Given the description of an element on the screen output the (x, y) to click on. 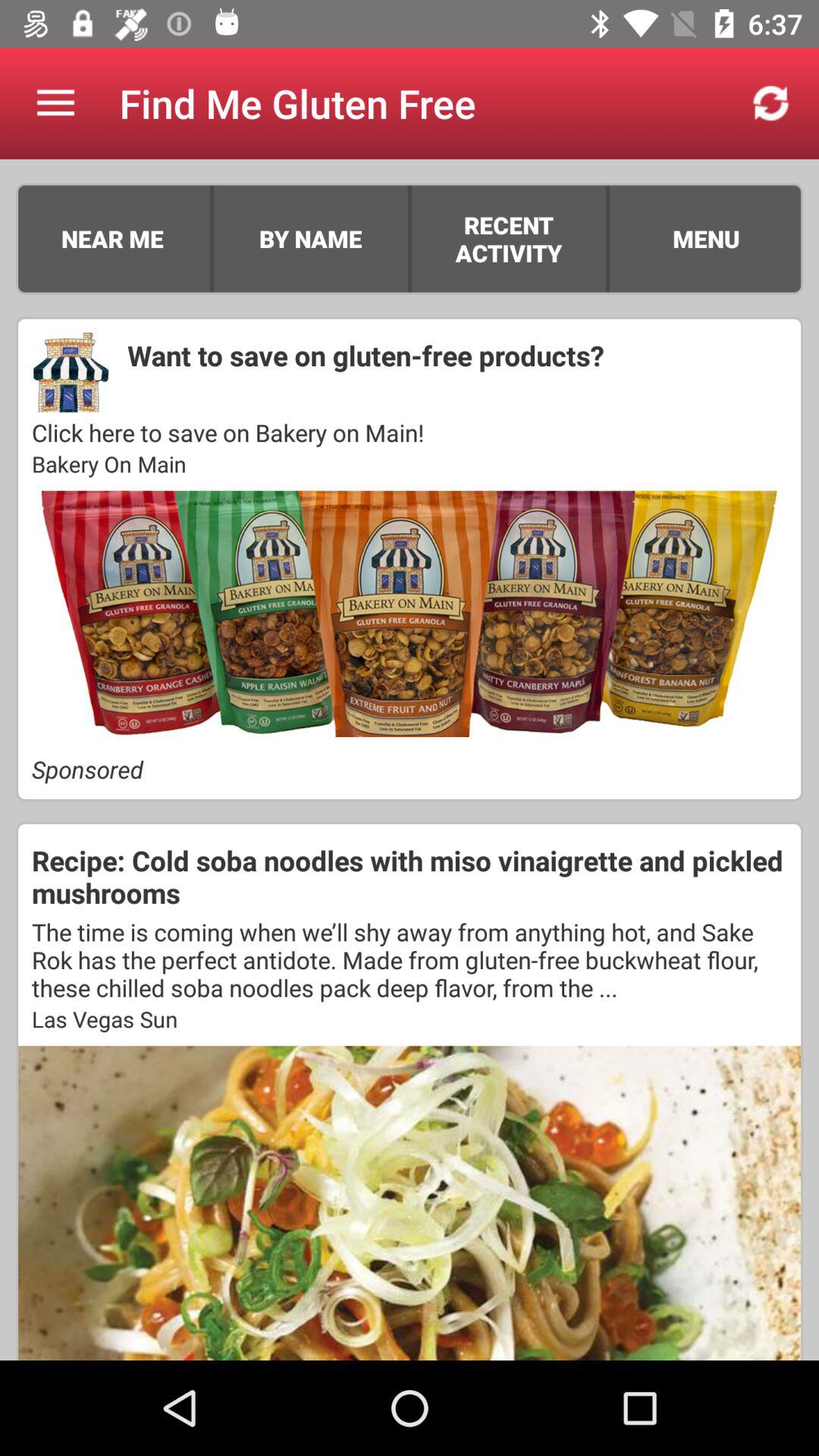
scroll until click here to (409, 432)
